Given the description of an element on the screen output the (x, y) to click on. 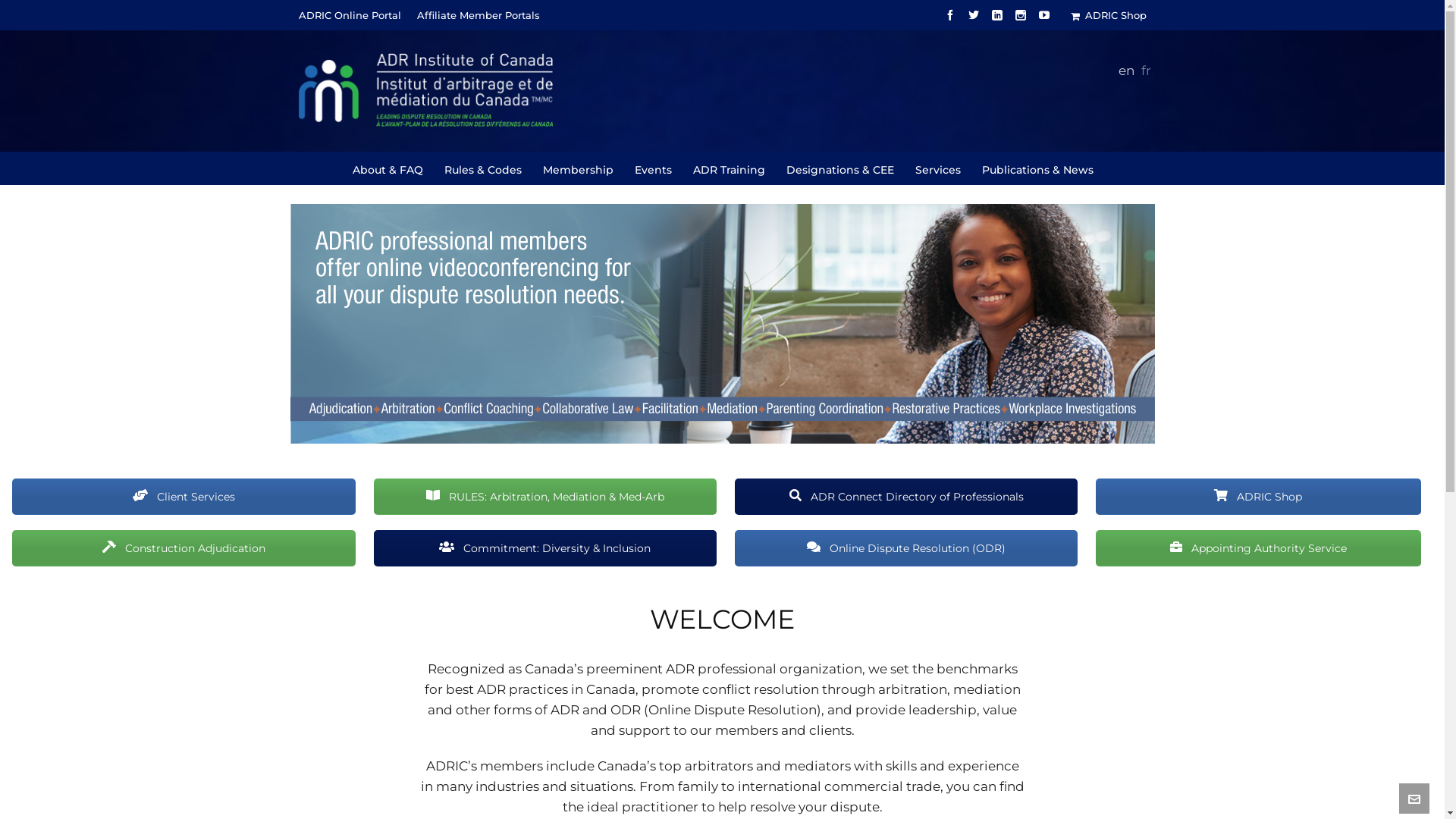
ADRIC Shop Element type: text (1258, 496)
Client Services Element type: text (183, 496)
ADR Training Element type: text (729, 168)
en Element type: text (1125, 70)
fr Element type: text (1145, 70)
Events Element type: text (652, 168)
Affiliate Member Portals Element type: text (478, 15)
ADR Connect Directory of Professionals Element type: text (905, 496)
Services Element type: text (937, 168)
Designations & CEE Element type: text (839, 168)
ADRIC Online Portal Element type: text (349, 15)
Online Dispute Resolution (ODR) Element type: text (905, 548)
Appointing Authority Service Element type: text (1258, 548)
Membership Element type: text (578, 168)
RULES: Arbitration, Mediation & Med-Arb Element type: text (544, 496)
Construction Adjudication Element type: text (183, 548)
Commitment: Diversity & Inclusion Element type: text (544, 548)
Publications & News Element type: text (1037, 168)
Rules & Codes Element type: text (483, 168)
ADRIC Shop Element type: text (1108, 15)
About & FAQ Element type: text (387, 168)
